Given the description of an element on the screen output the (x, y) to click on. 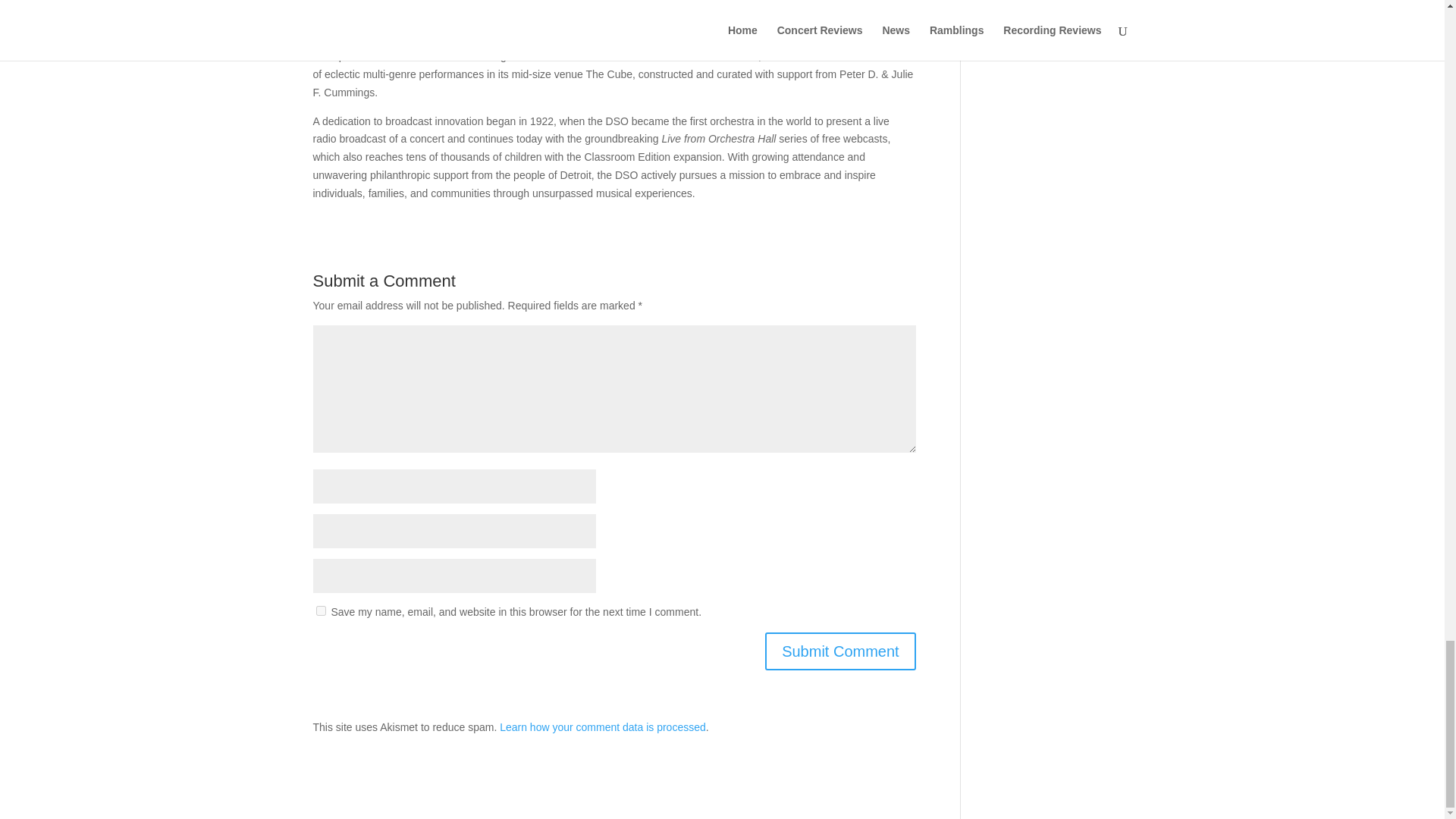
Learn how your comment data is processed (602, 727)
yes (319, 610)
Submit Comment (840, 651)
Submit Comment (840, 651)
